Given the description of an element on the screen output the (x, y) to click on. 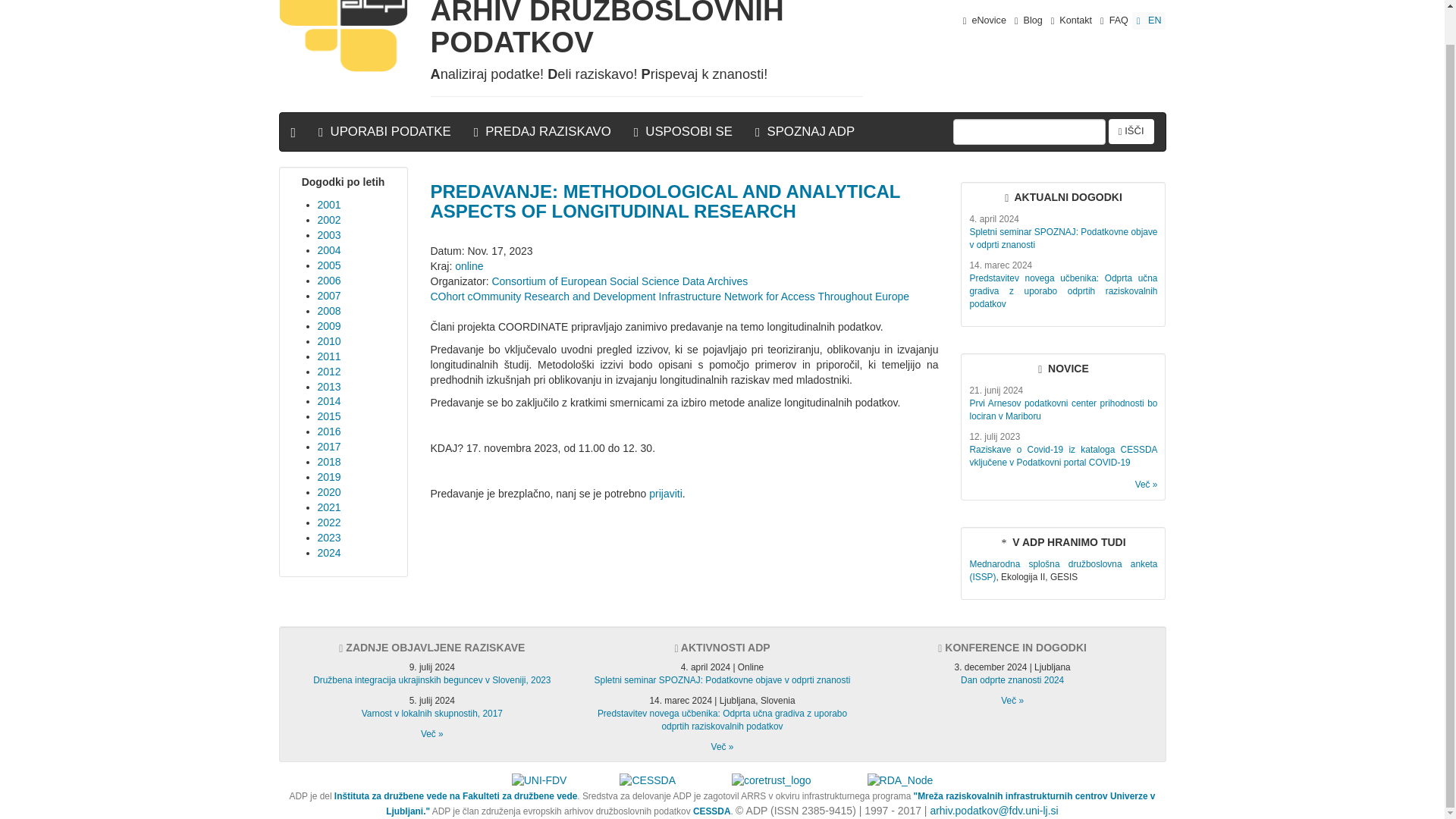
Arhiv raziskav (432, 733)
  FAQ (1114, 20)
  UPORABI PODATKE (385, 131)
Poglej podrobnosti o raziskavi (1063, 570)
Vse novice (1146, 484)
Arhiv aktivnosti ADP (722, 747)
  Kontakt (1071, 19)
   EN (1149, 20)
  FAQ (1114, 19)
  eNovice (984, 19)
